Given the description of an element on the screen output the (x, y) to click on. 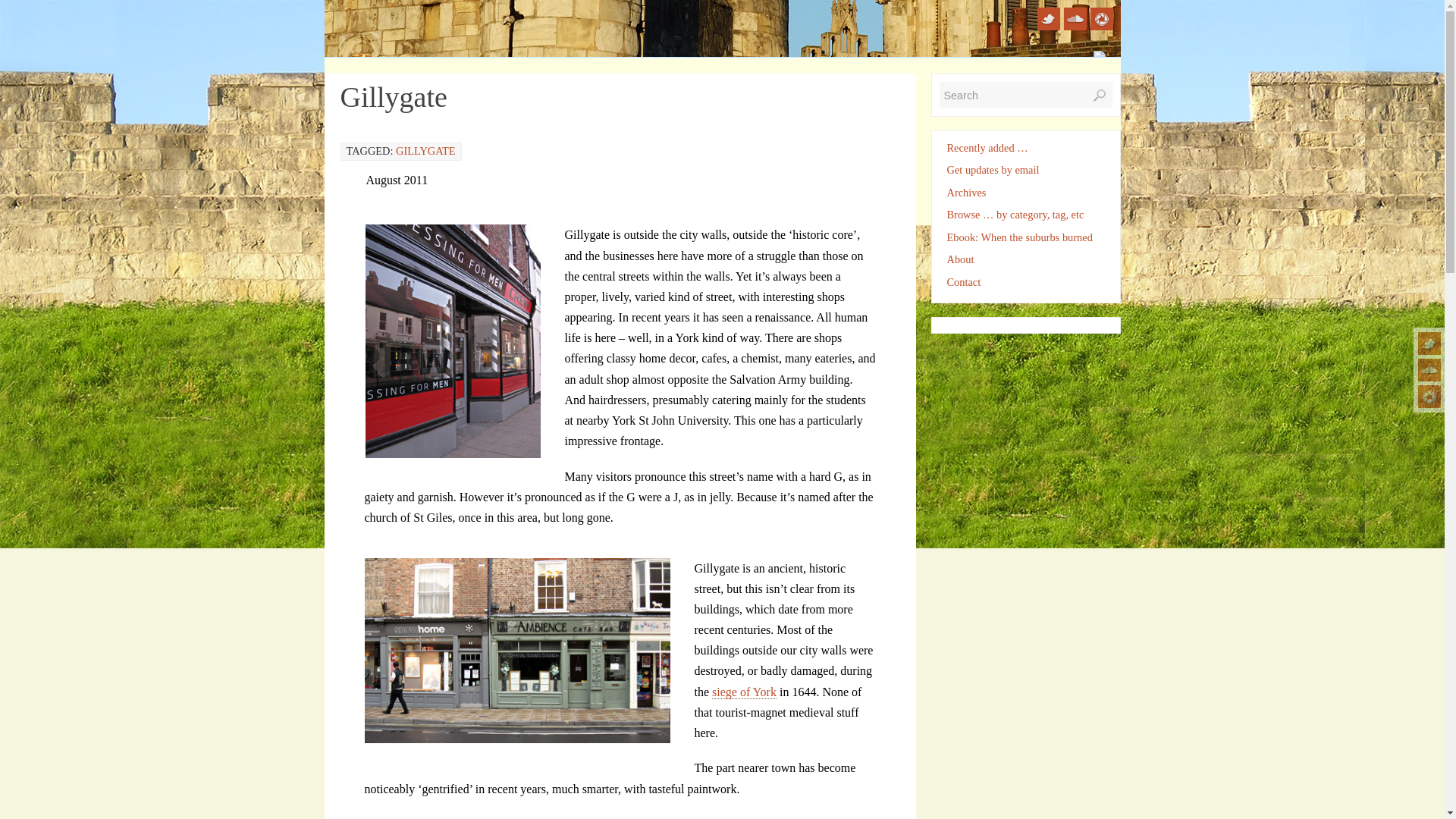
More and larger photos in my Picasweb albums (1429, 395)
Archives (965, 191)
Search (1025, 94)
Get updates by email (992, 169)
More and larger photos in my Picasweb albums (1101, 18)
Contact (962, 282)
siege of York (743, 692)
Recent additions (986, 147)
OK (1099, 95)
Ebook: When the suburbs burned (1019, 237)
List of earlier pages, back to 2011 (965, 191)
OK (1099, 95)
Sign up to my mailing list (992, 169)
About (960, 259)
GILLYGATE (425, 150)
